Given the description of an element on the screen output the (x, y) to click on. 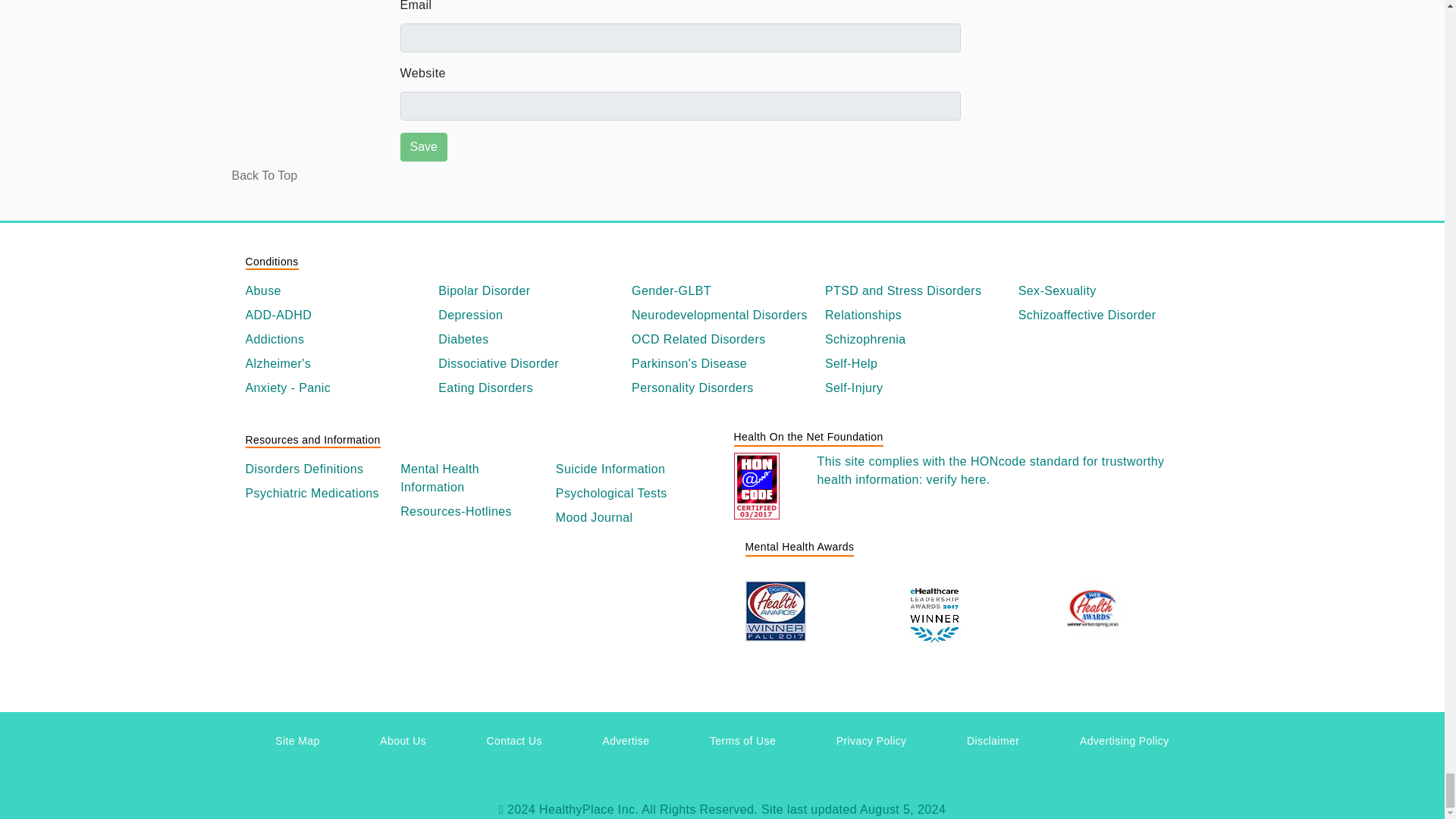
Parkinson's Disease Information Articles (721, 363)
